Given the description of an element on the screen output the (x, y) to click on. 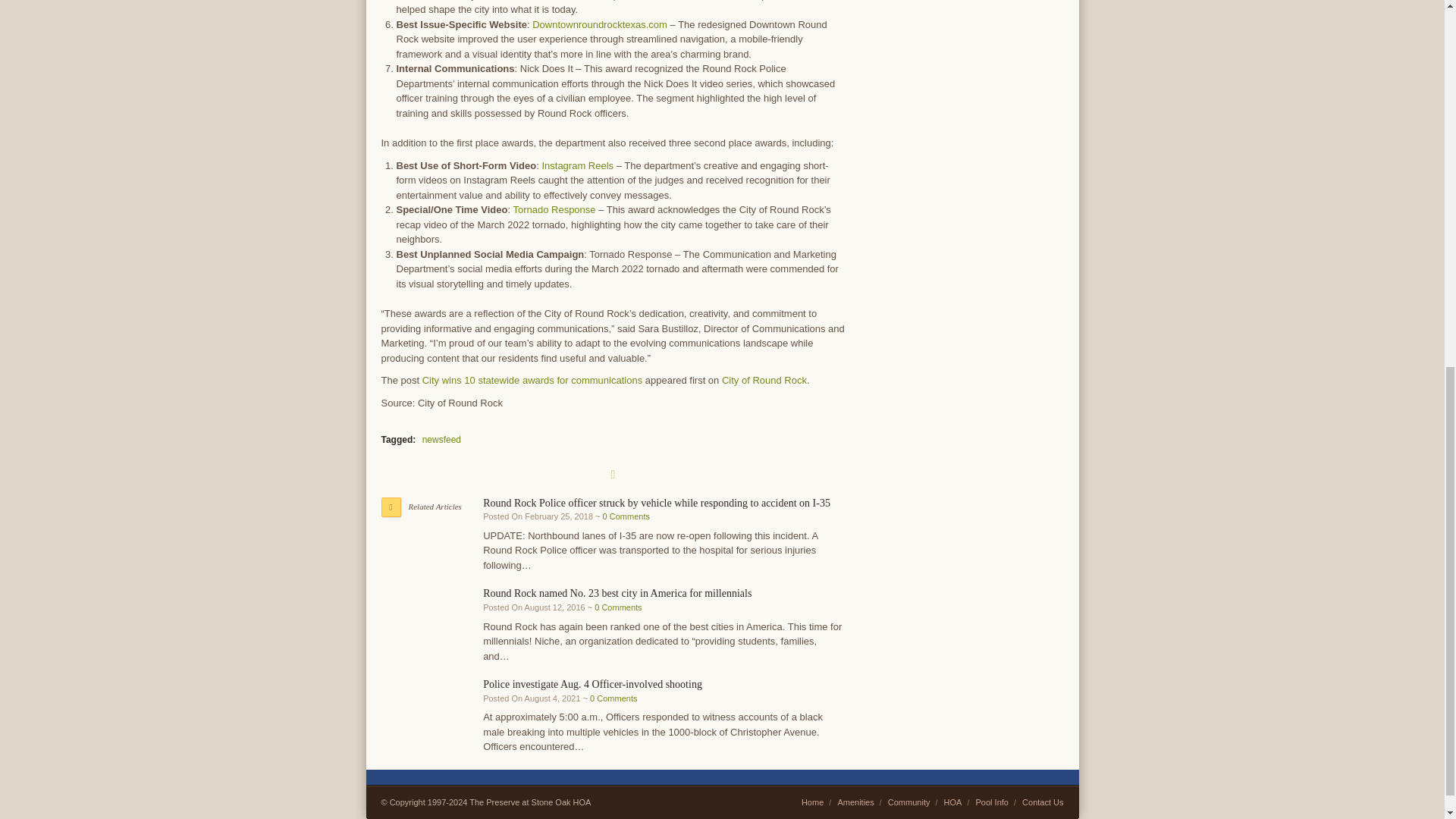
Police investigate Aug. 4 Officer-involved shooting (592, 684)
Round Rock named No. 23 best city in America for millennials (617, 593)
